Given the description of an element on the screen output the (x, y) to click on. 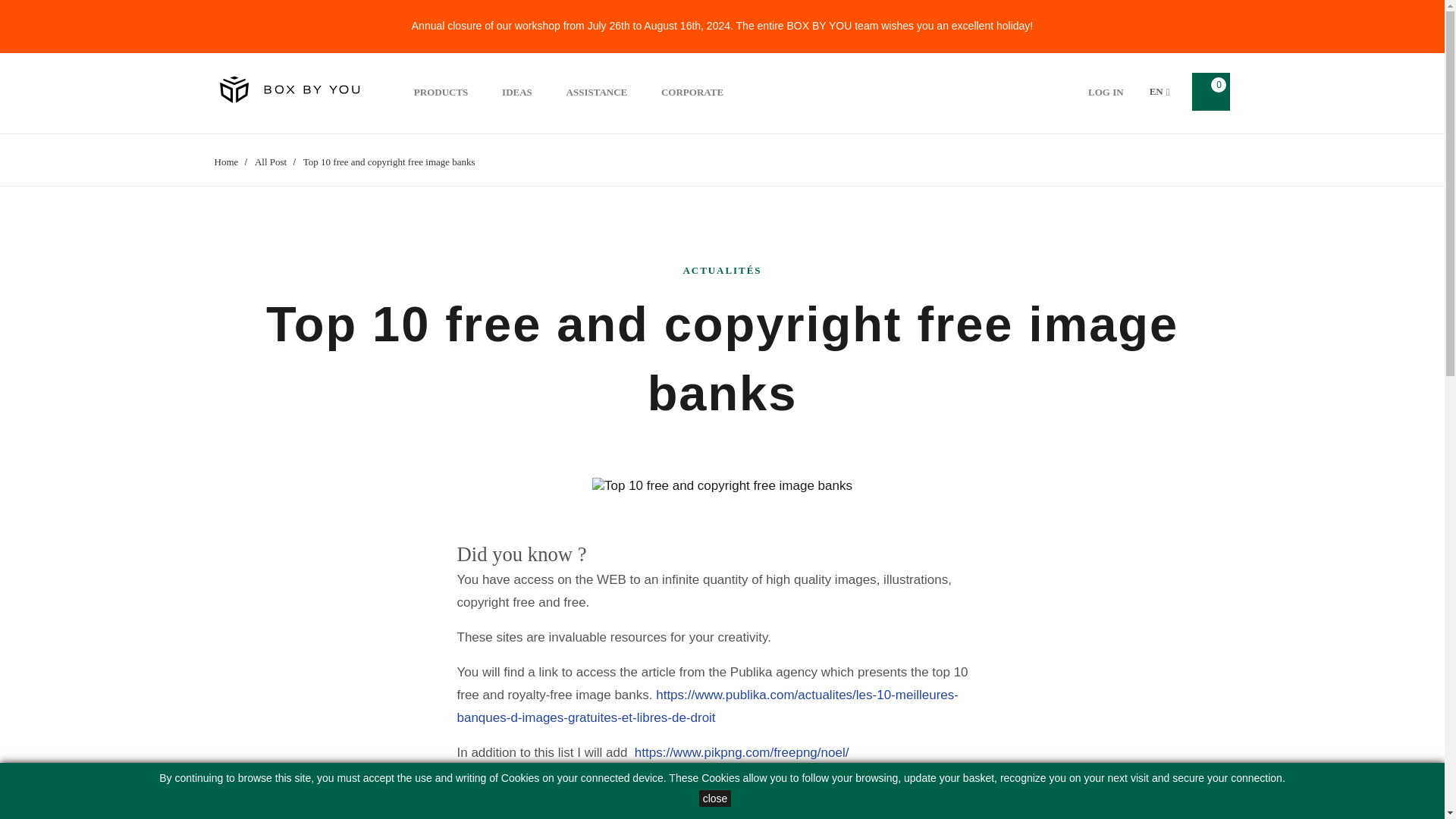
Log in (1105, 91)
All Post (271, 161)
PRODUCTS (440, 91)
Home (227, 161)
Top 10 free and copyright free image banks (389, 161)
CORPORATE (692, 91)
ASSISTANCE (596, 91)
EN (1158, 91)
LOG IN (1105, 91)
IDEAS (517, 91)
